Given the description of an element on the screen output the (x, y) to click on. 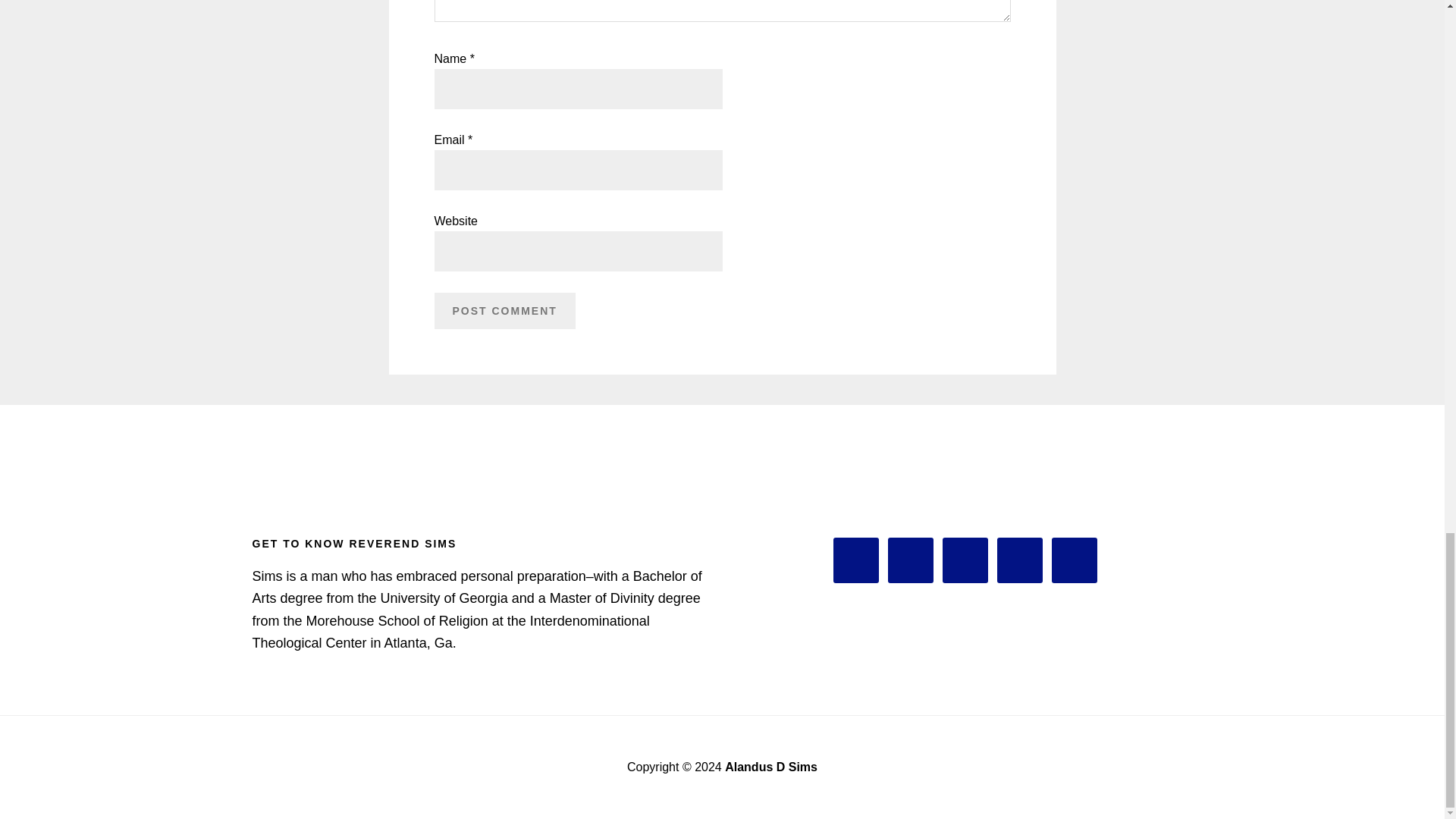
Alandus D Sims (770, 766)
Post Comment (504, 310)
Post Comment (504, 310)
